Given the description of an element on the screen output the (x, y) to click on. 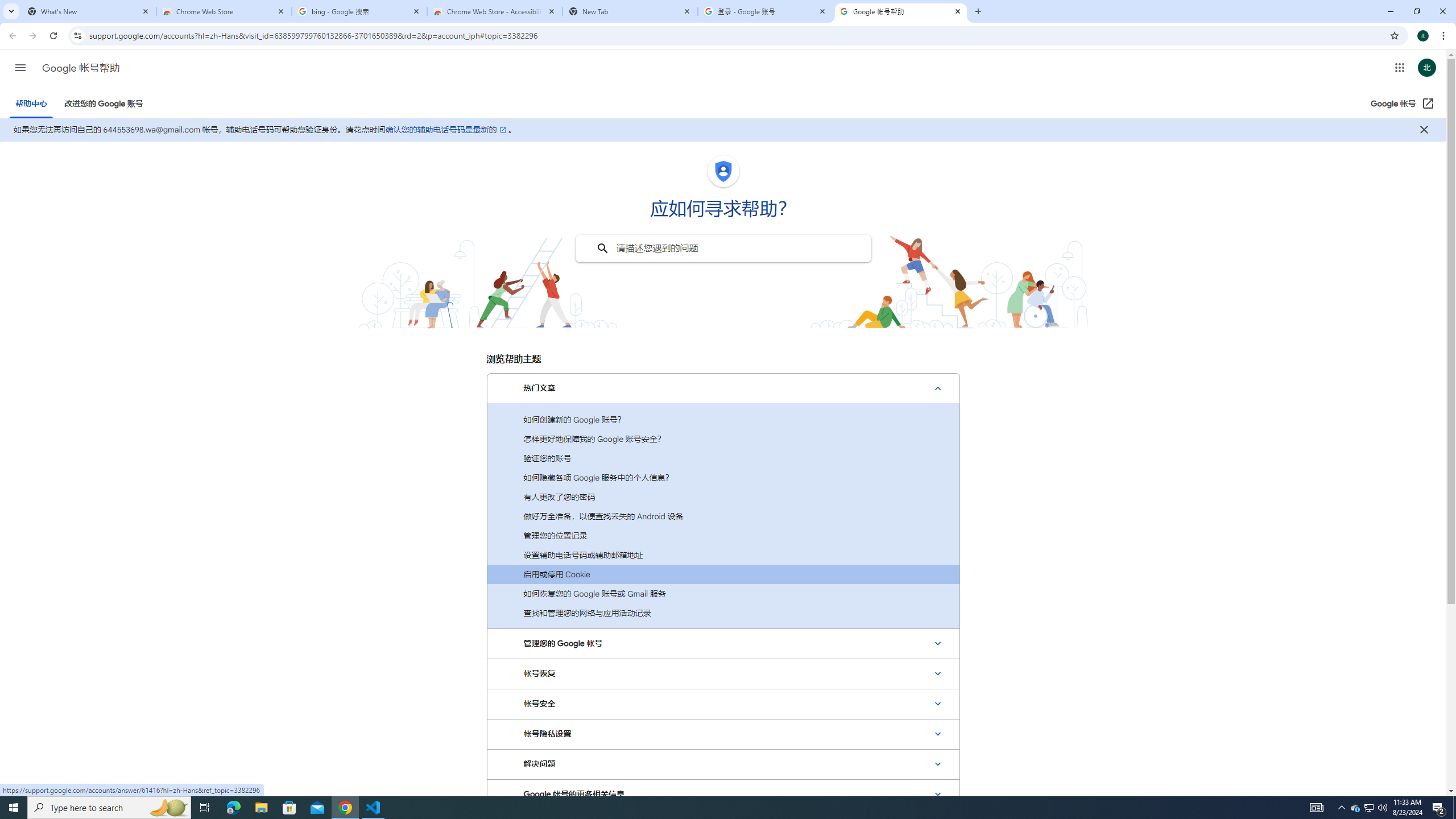
New Tab (630, 11)
Address and search bar (735, 35)
View site information (77, 35)
Forward (32, 35)
